Given the description of an element on the screen output the (x, y) to click on. 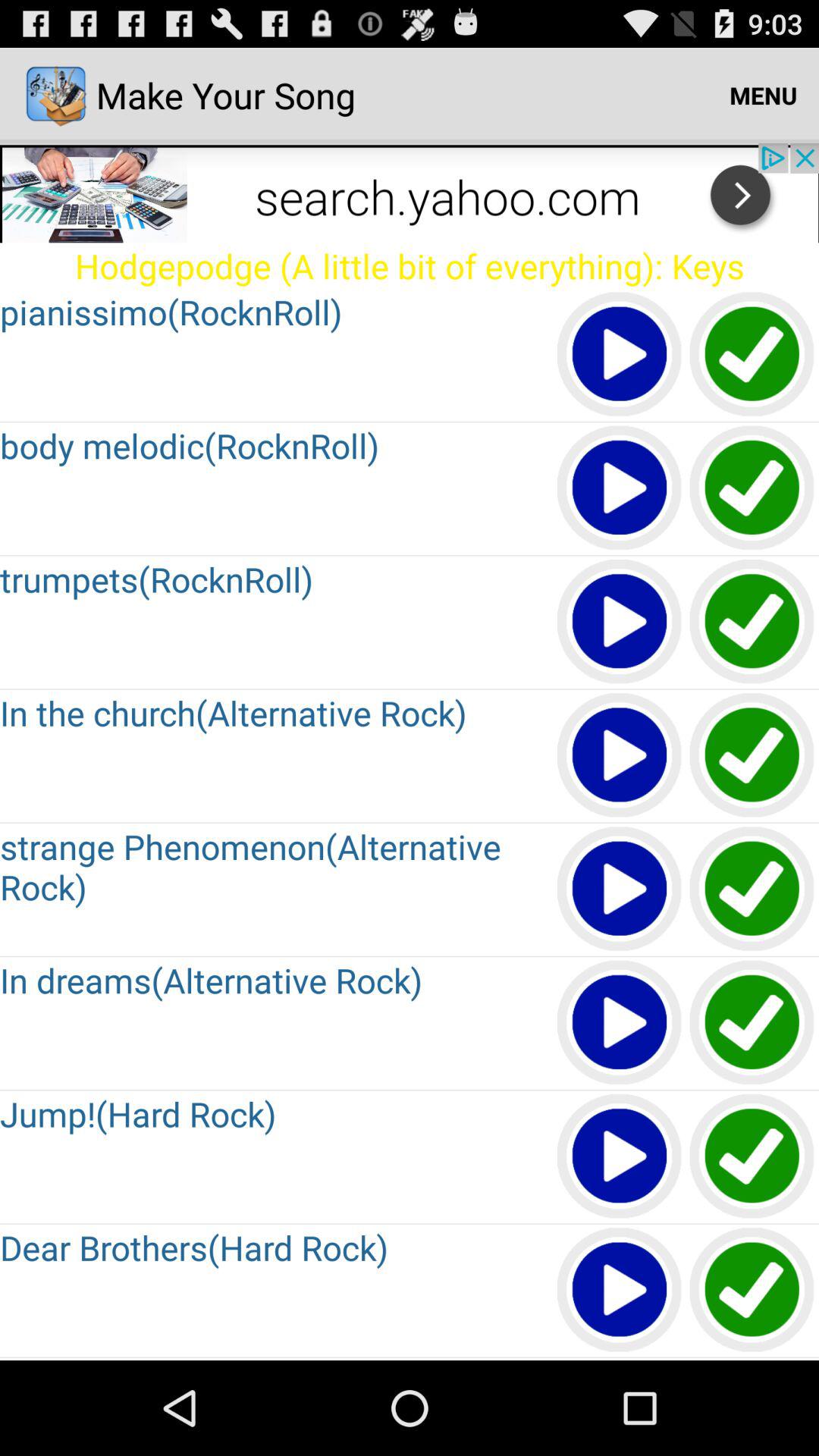
ride pega (752, 755)
